Given the description of an element on the screen output the (x, y) to click on. 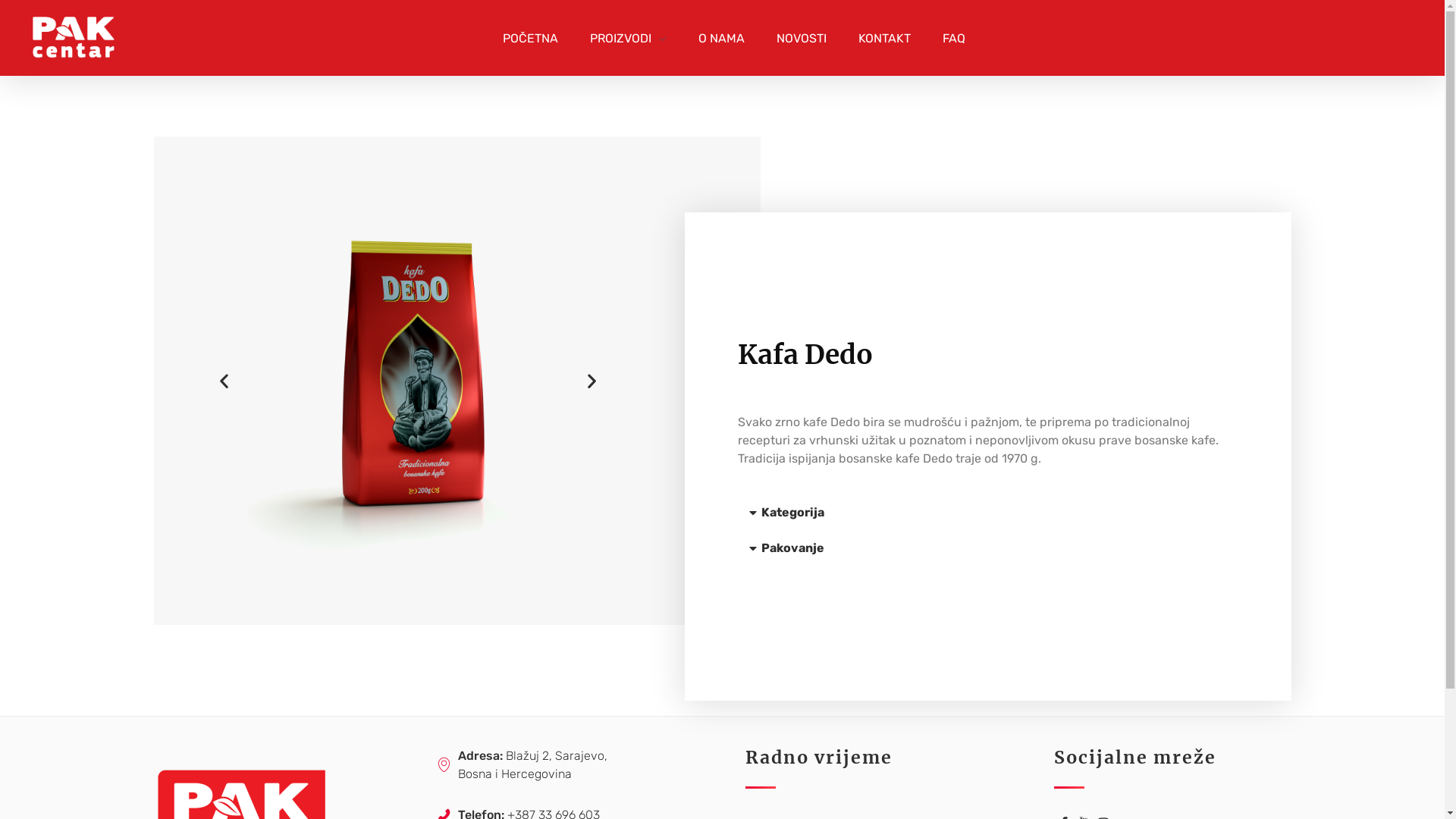
Kategorija Element type: text (792, 512)
Pakovanje Element type: text (792, 547)
O NAMA Element type: text (721, 37)
NOVOSTI Element type: text (800, 37)
FAQ Element type: text (945, 37)
KONTAKT Element type: text (883, 37)
PROIZVODI Element type: text (627, 37)
